Given the description of an element on the screen output the (x, y) to click on. 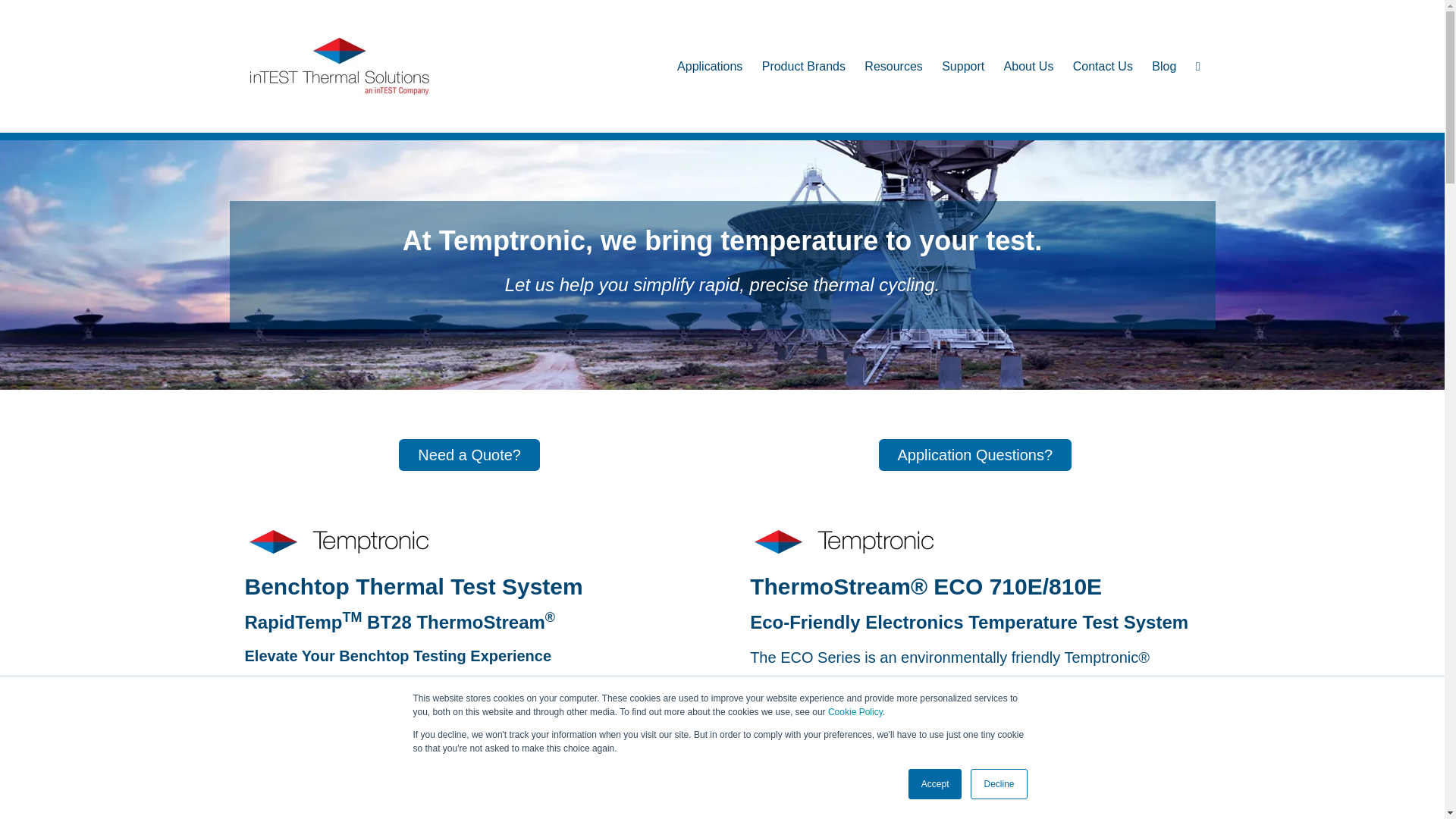
Need a Quote? (469, 454)
Temptronic  (843, 540)
ECO ThermoStream (974, 777)
Cookie Policy (855, 711)
Applications (709, 65)
Benchtop Thermal Test System (469, 793)
Decline (998, 784)
Accept (935, 784)
Application Questions? (975, 454)
Temptronic  (338, 540)
Product Brands (803, 65)
